Given the description of an element on the screen output the (x, y) to click on. 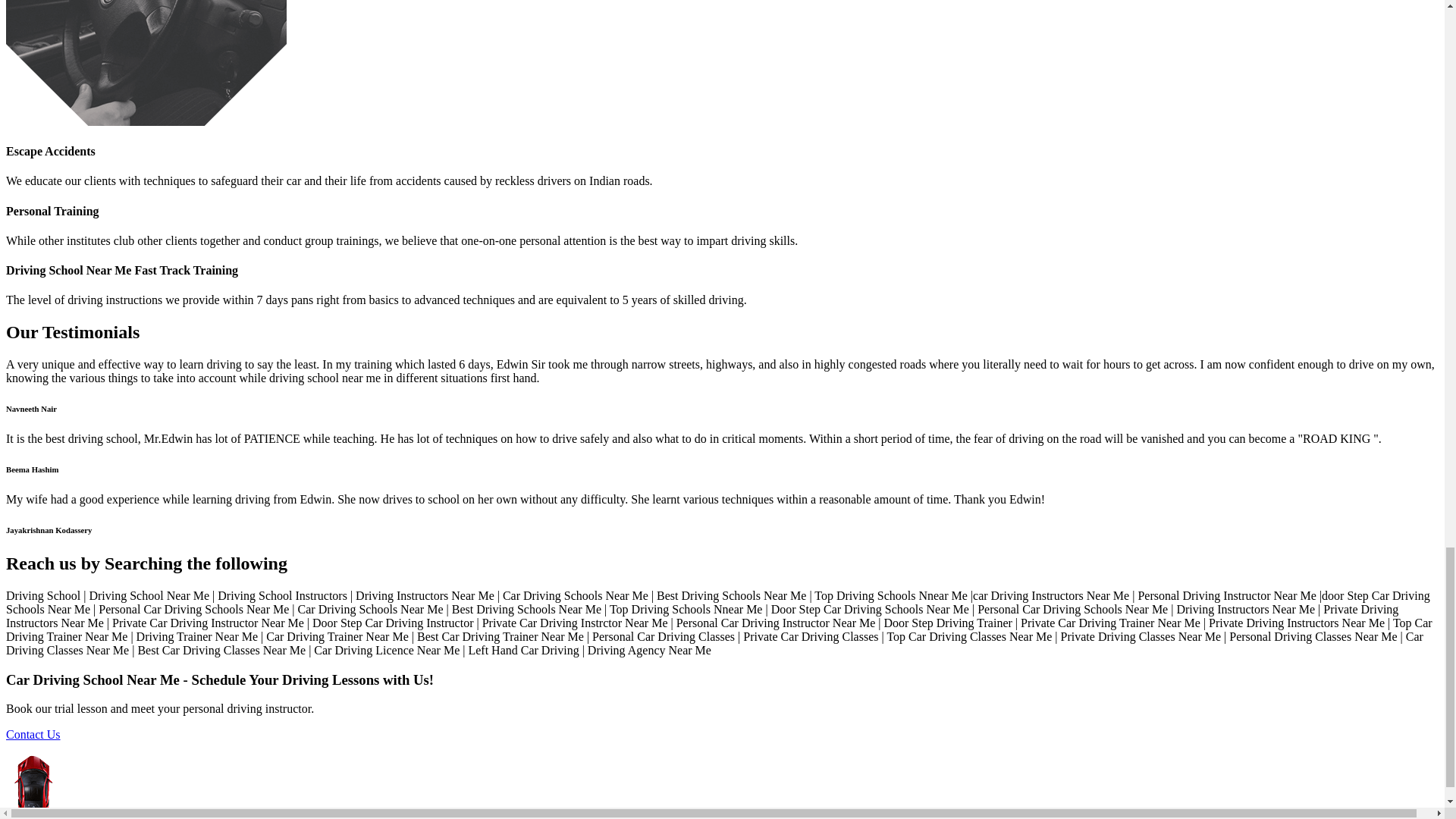
Best driving school near me (145, 63)
